Given the description of an element on the screen output the (x, y) to click on. 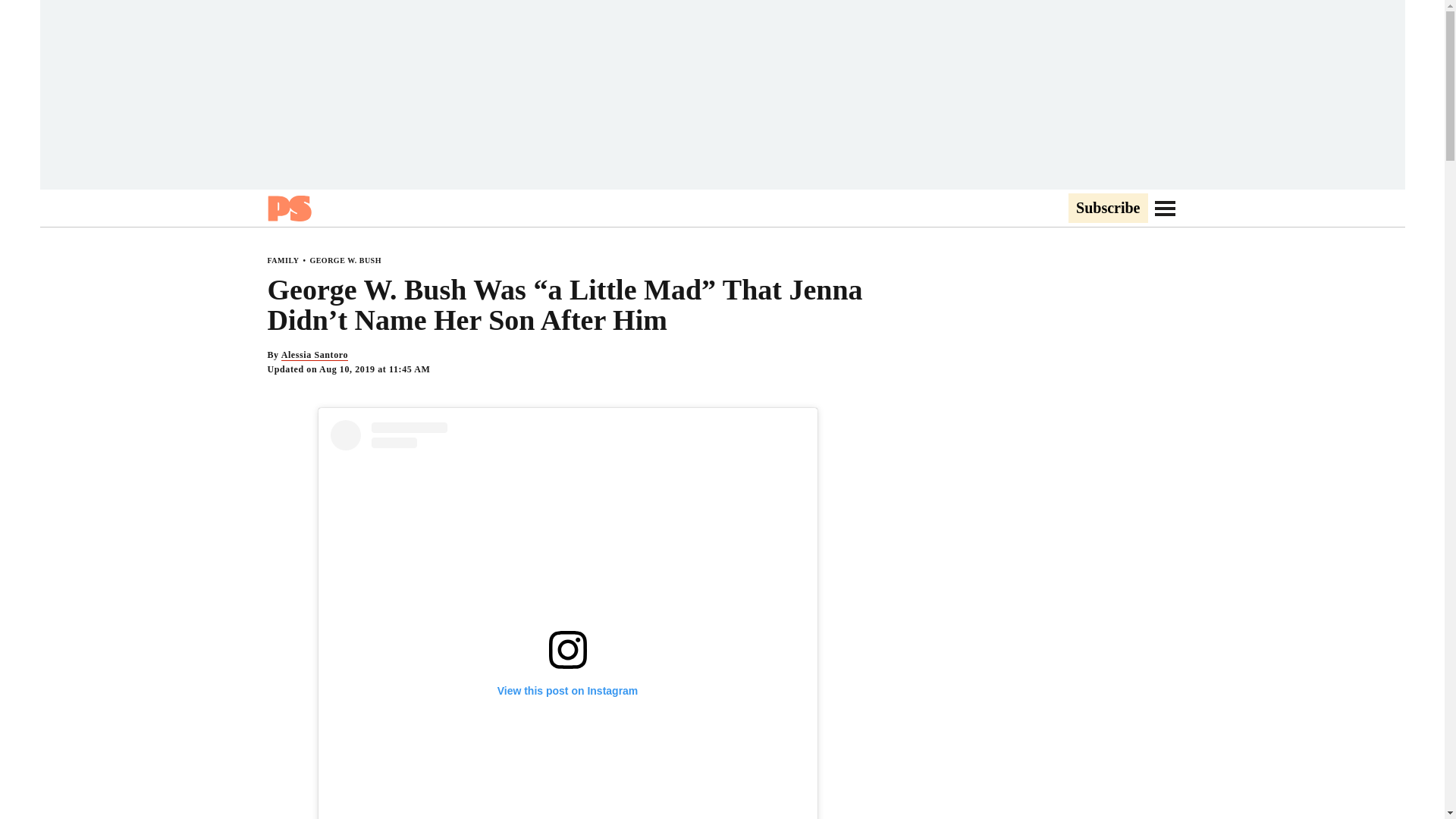
Go to Navigation (1164, 207)
Go to Navigation (1164, 207)
Alessia Santoro (314, 355)
GEORGE W. BUSH (344, 260)
Popsugar (288, 208)
FAMILY (282, 260)
Subscribe (1107, 208)
